Given the description of an element on the screen output the (x, y) to click on. 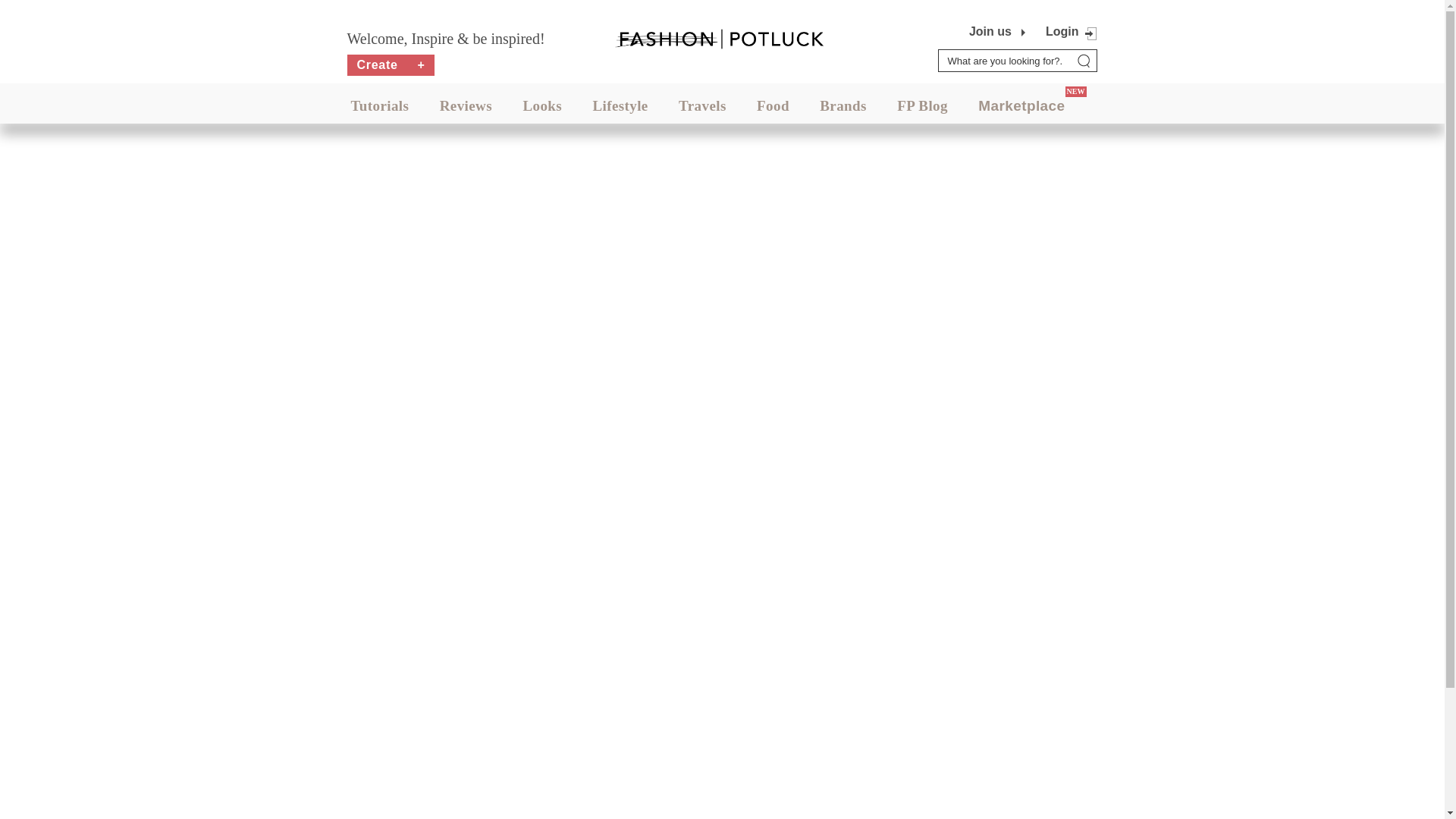
Reviews (465, 105)
Brands (842, 105)
FP-Blog (921, 105)
MARKETPLACE (1021, 105)
LOOKS (542, 105)
Food (773, 105)
Lifestyle (619, 105)
Join us (990, 31)
Login (1061, 31)
Tutorials (379, 105)
Travels (702, 105)
FP Blog (921, 105)
TUTORIALS (379, 105)
FOOD (773, 105)
Looks (542, 105)
